Given the description of an element on the screen output the (x, y) to click on. 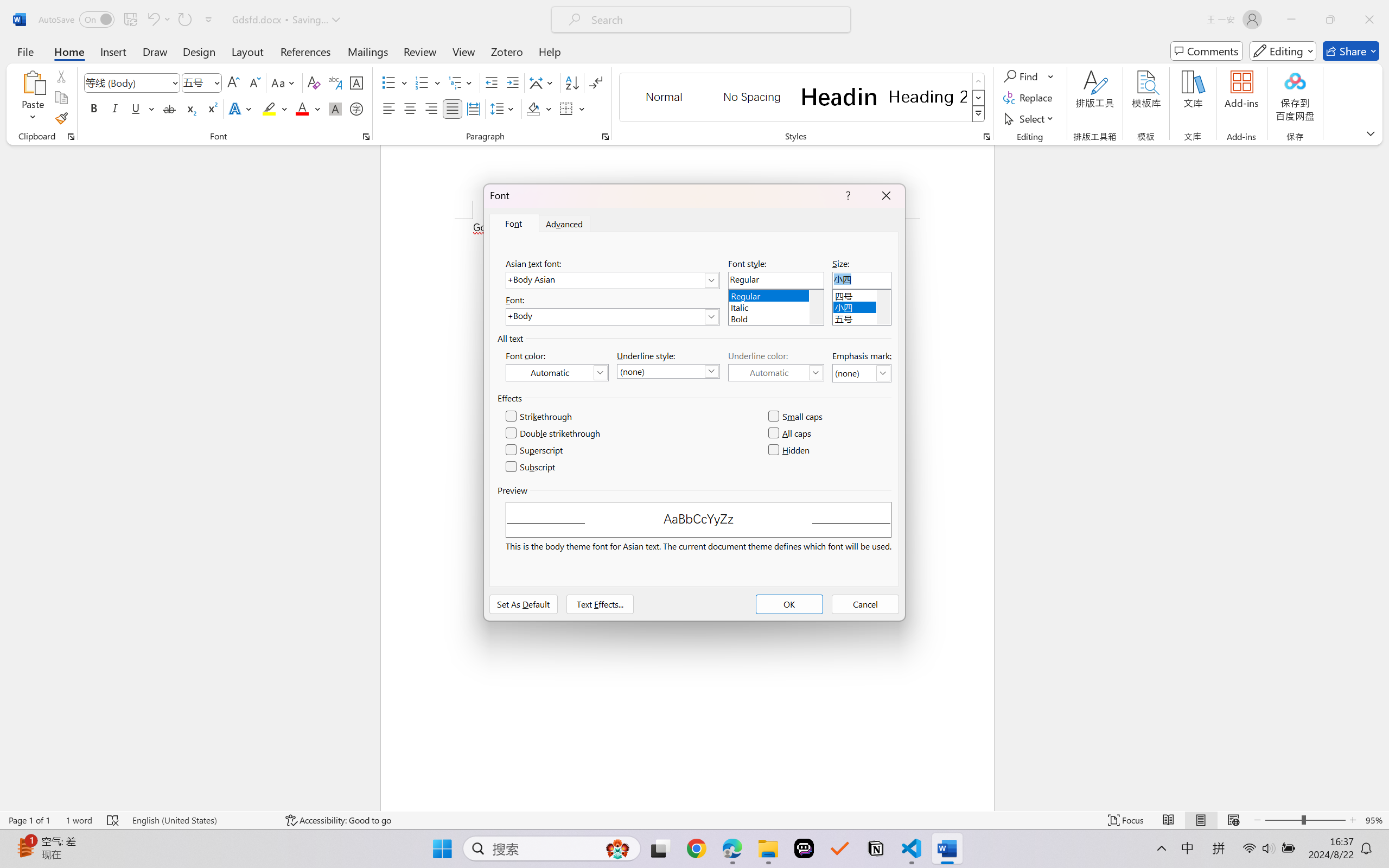
Undo Style (152, 19)
Character Shading (334, 108)
Class: NetUIScrollBar (1382, 477)
Heading 2 (927, 96)
Enclose Characters... (356, 108)
Italic (775, 305)
